Given the description of an element on the screen output the (x, y) to click on. 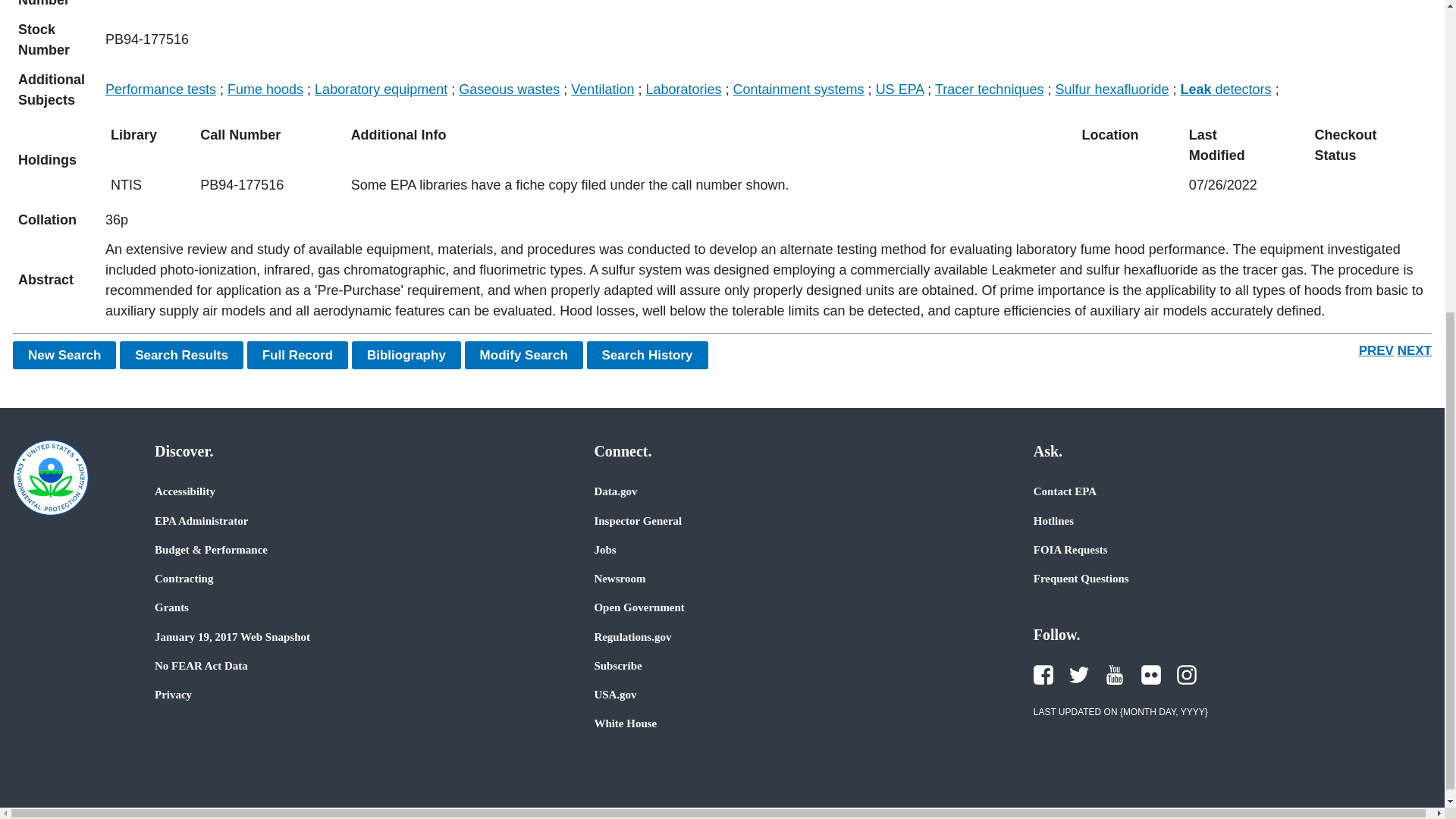
Gaseous wastes (508, 89)
Fume hoods (264, 89)
Inspector General (637, 520)
Laboratories (682, 89)
New Search (64, 355)
Grants (171, 607)
NEXT (1414, 350)
Display Full Record (298, 355)
Contracting (183, 578)
Search Results (181, 355)
Sulfur hexafluoride (1111, 89)
Tracer techniques (988, 89)
Modify Search (523, 355)
Show results in standard format (181, 355)
Full Record (298, 355)
